Given the description of an element on the screen output the (x, y) to click on. 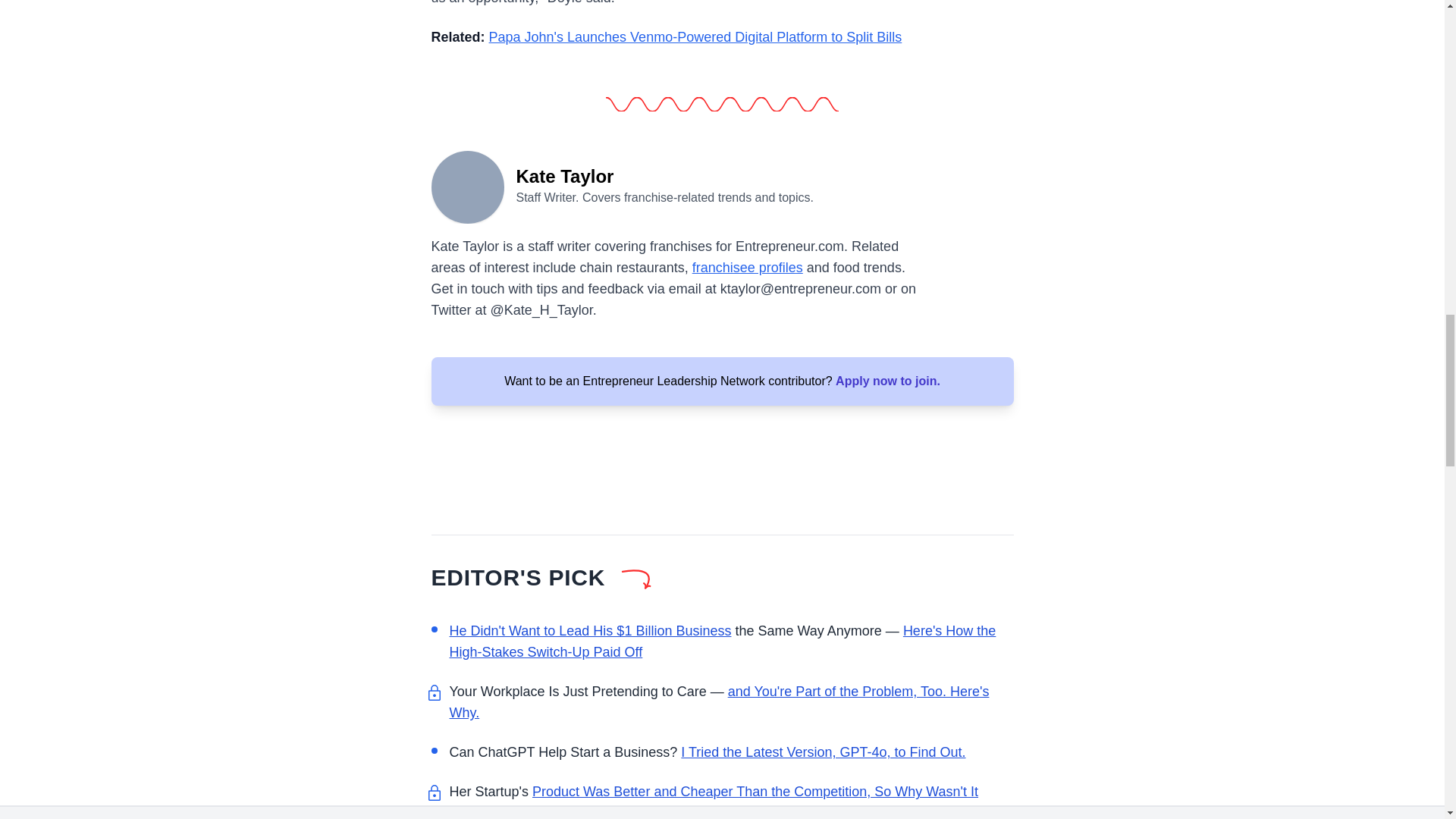
Kate Taylor (466, 185)
